Given the description of an element on the screen output the (x, y) to click on. 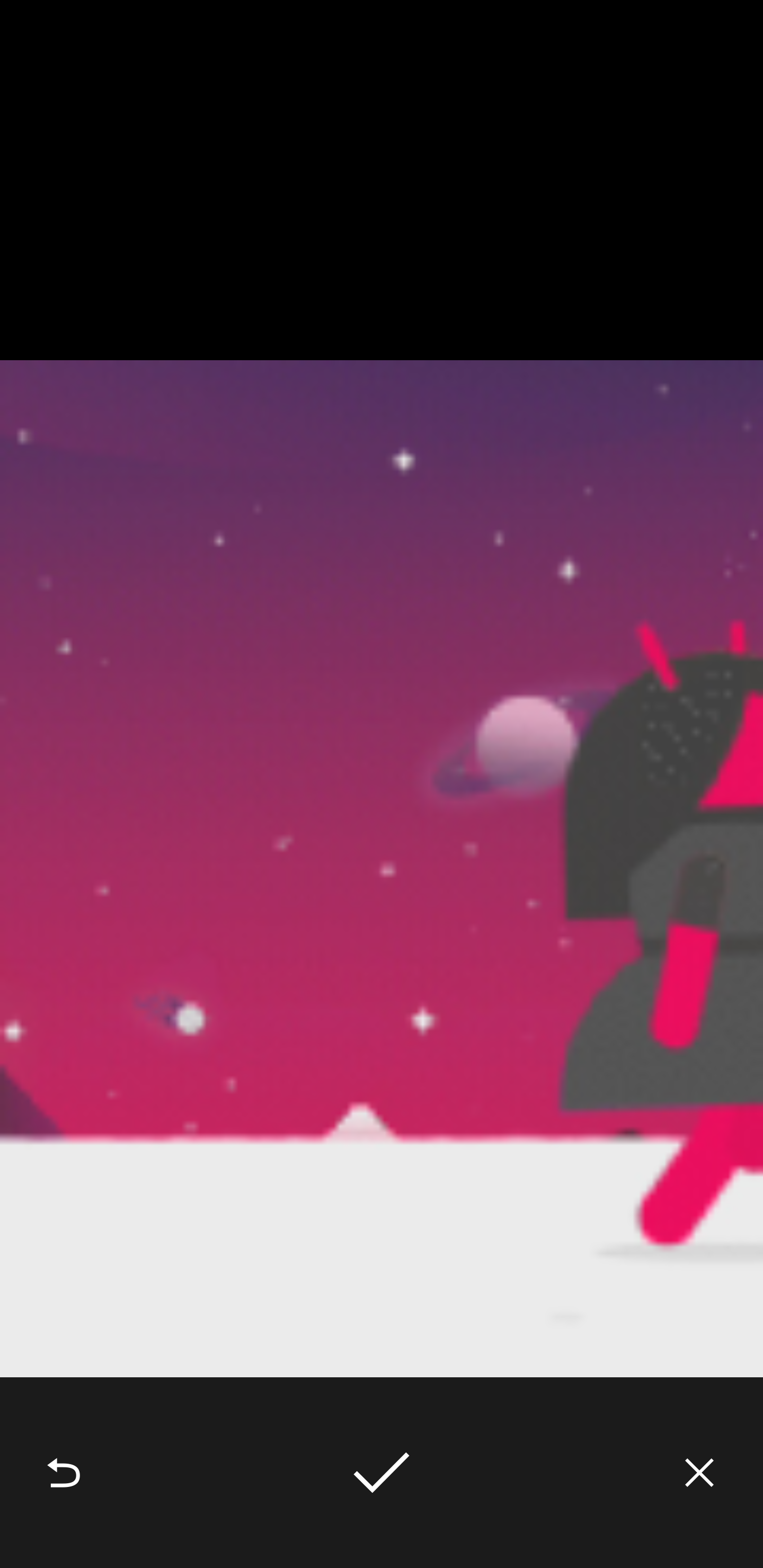
Done (381, 1472)
Retake (63, 1472)
Cancel (699, 1472)
